Given the description of an element on the screen output the (x, y) to click on. 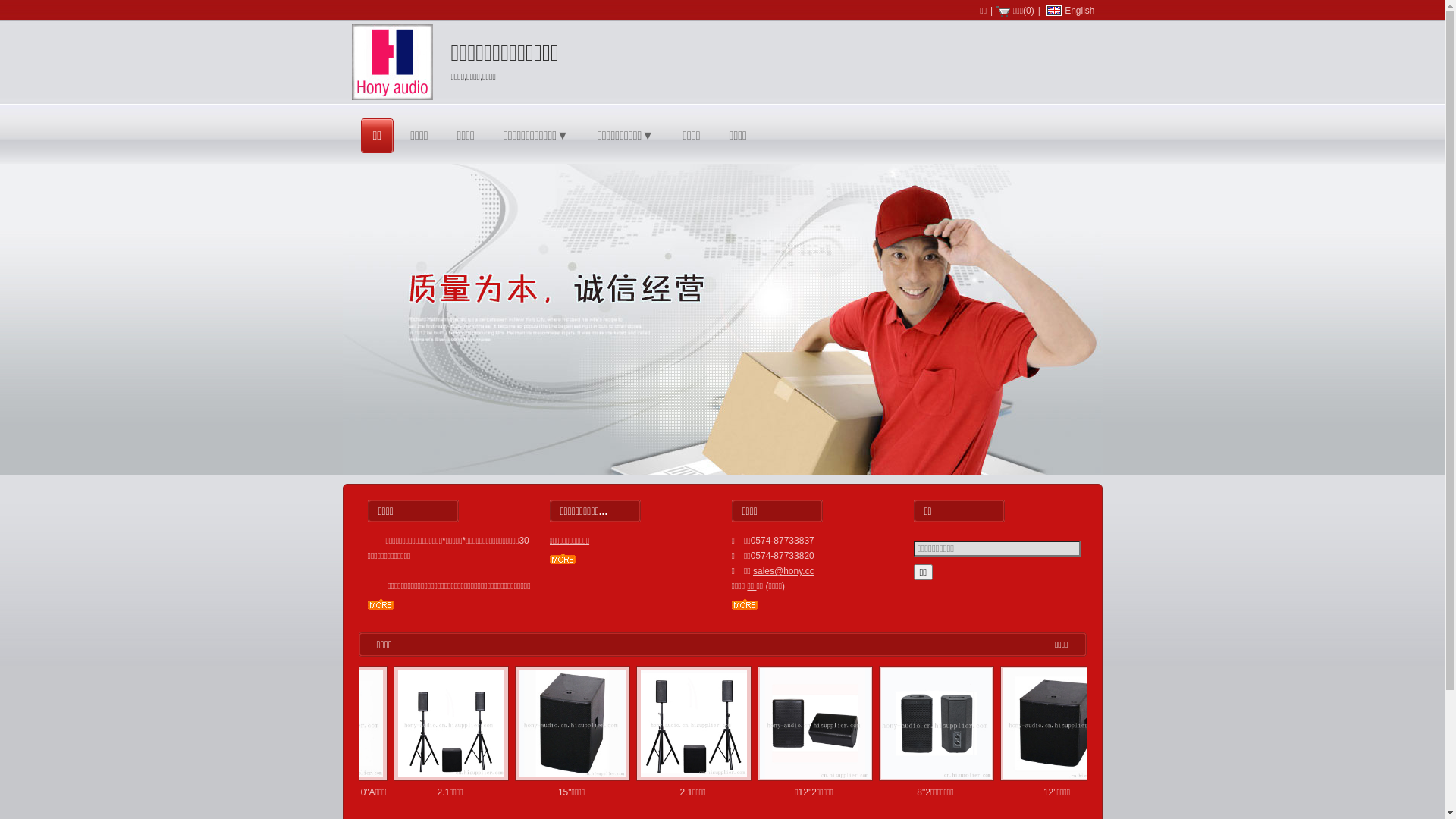
12 Element type: hover (1068, 723)
English Element type: text (1072, 10)
sales@hony.cc Element type: text (783, 570)
10 Element type: hover (343, 723)
8 Element type: hover (947, 723)
15 Element type: hover (584, 723)
